Given the description of an element on the screen output the (x, y) to click on. 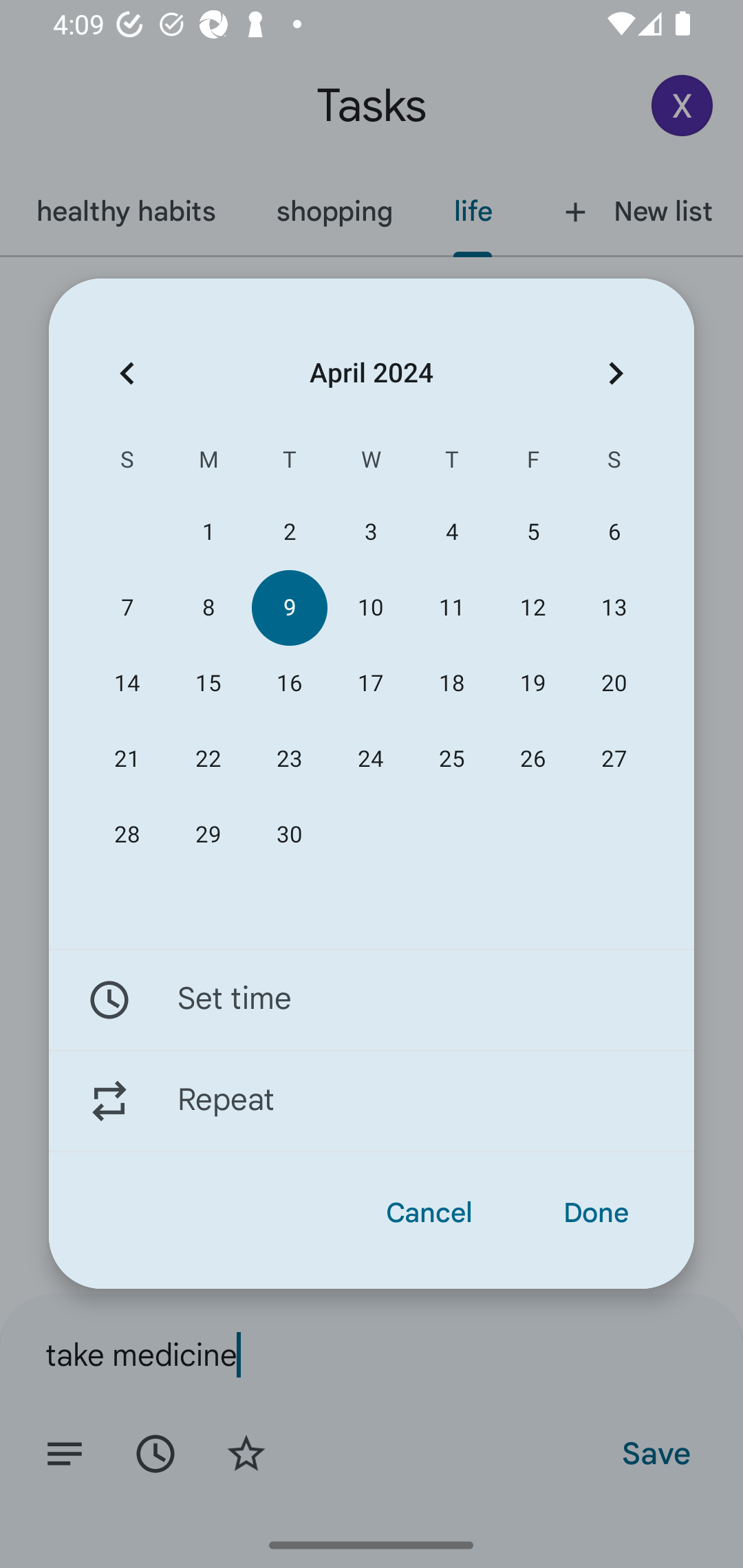
Previous month (126, 372)
Next month (615, 372)
1 01 April 2024 (207, 531)
2 02 April 2024 (288, 531)
3 03 April 2024 (370, 531)
4 04 April 2024 (451, 531)
5 05 April 2024 (532, 531)
6 06 April 2024 (613, 531)
7 07 April 2024 (126, 608)
8 08 April 2024 (207, 608)
9 09 April 2024 (288, 608)
10 10 April 2024 (370, 608)
11 11 April 2024 (451, 608)
12 12 April 2024 (532, 608)
13 13 April 2024 (613, 608)
14 14 April 2024 (126, 683)
15 15 April 2024 (207, 683)
16 16 April 2024 (288, 683)
17 17 April 2024 (370, 683)
18 18 April 2024 (451, 683)
19 19 April 2024 (532, 683)
20 20 April 2024 (613, 683)
21 21 April 2024 (126, 758)
22 22 April 2024 (207, 758)
23 23 April 2024 (288, 758)
24 24 April 2024 (370, 758)
25 25 April 2024 (451, 758)
26 26 April 2024 (532, 758)
27 27 April 2024 (613, 758)
28 28 April 2024 (126, 834)
29 29 April 2024 (207, 834)
30 30 April 2024 (288, 834)
Set time (371, 999)
Repeat (371, 1101)
Cancel (429, 1213)
Done (595, 1213)
